Given the description of an element on the screen output the (x, y) to click on. 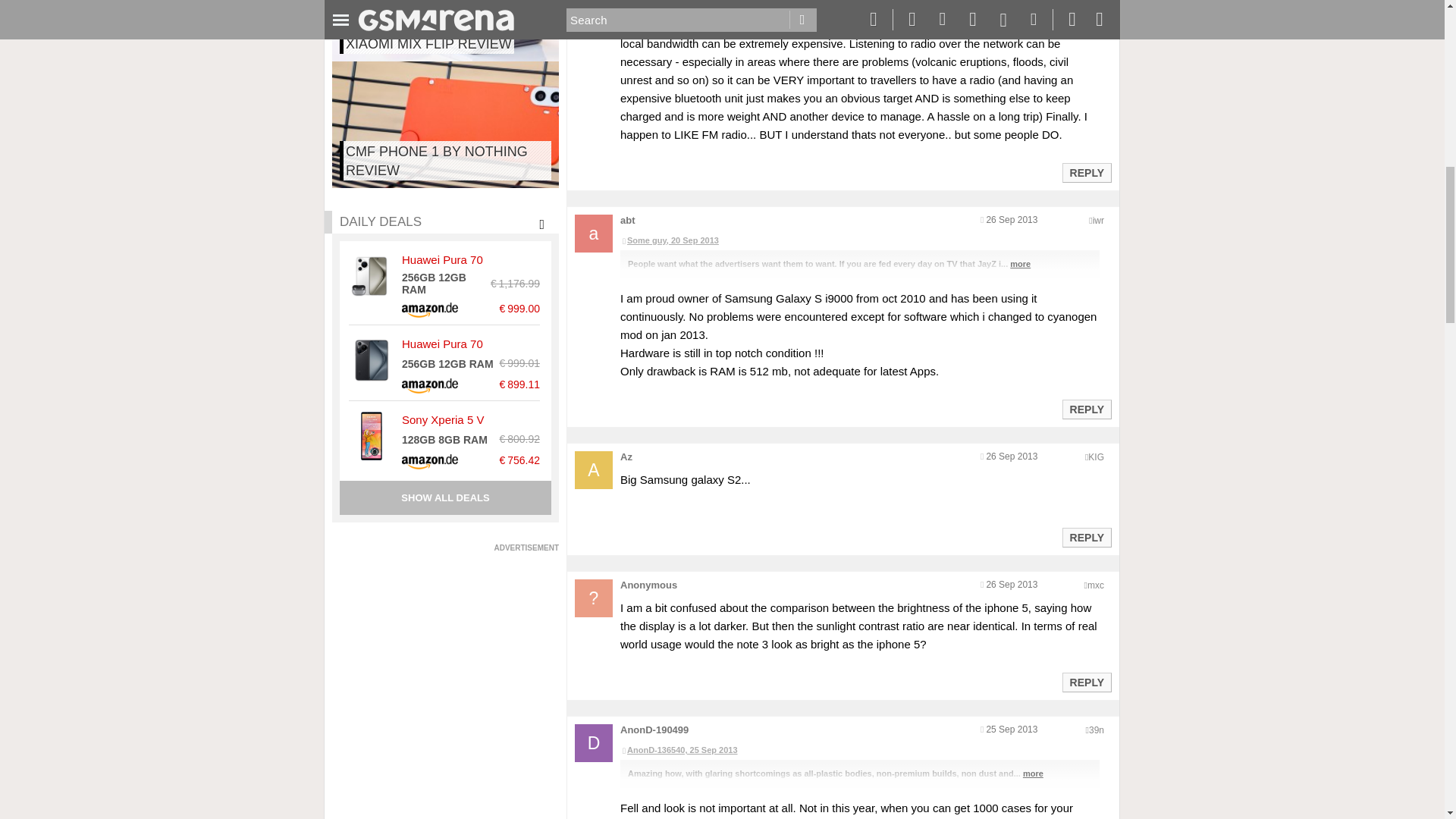
Reply to this post (1086, 682)
Encoded anonymized location (1096, 729)
Reply to this post (1086, 537)
Encoded anonymized location (1098, 220)
Reply to this post (1086, 409)
Encoded anonymized location (1095, 457)
Encoded anonymized location (1095, 584)
Reply to this post (1086, 173)
